Given the description of an element on the screen output the (x, y) to click on. 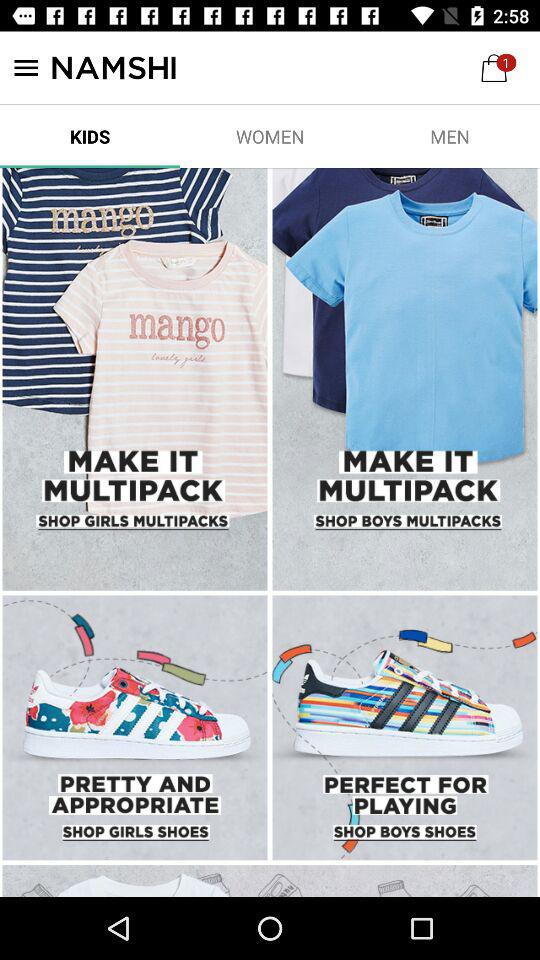
click item next to the women item (90, 136)
